Given the description of an element on the screen output the (x, y) to click on. 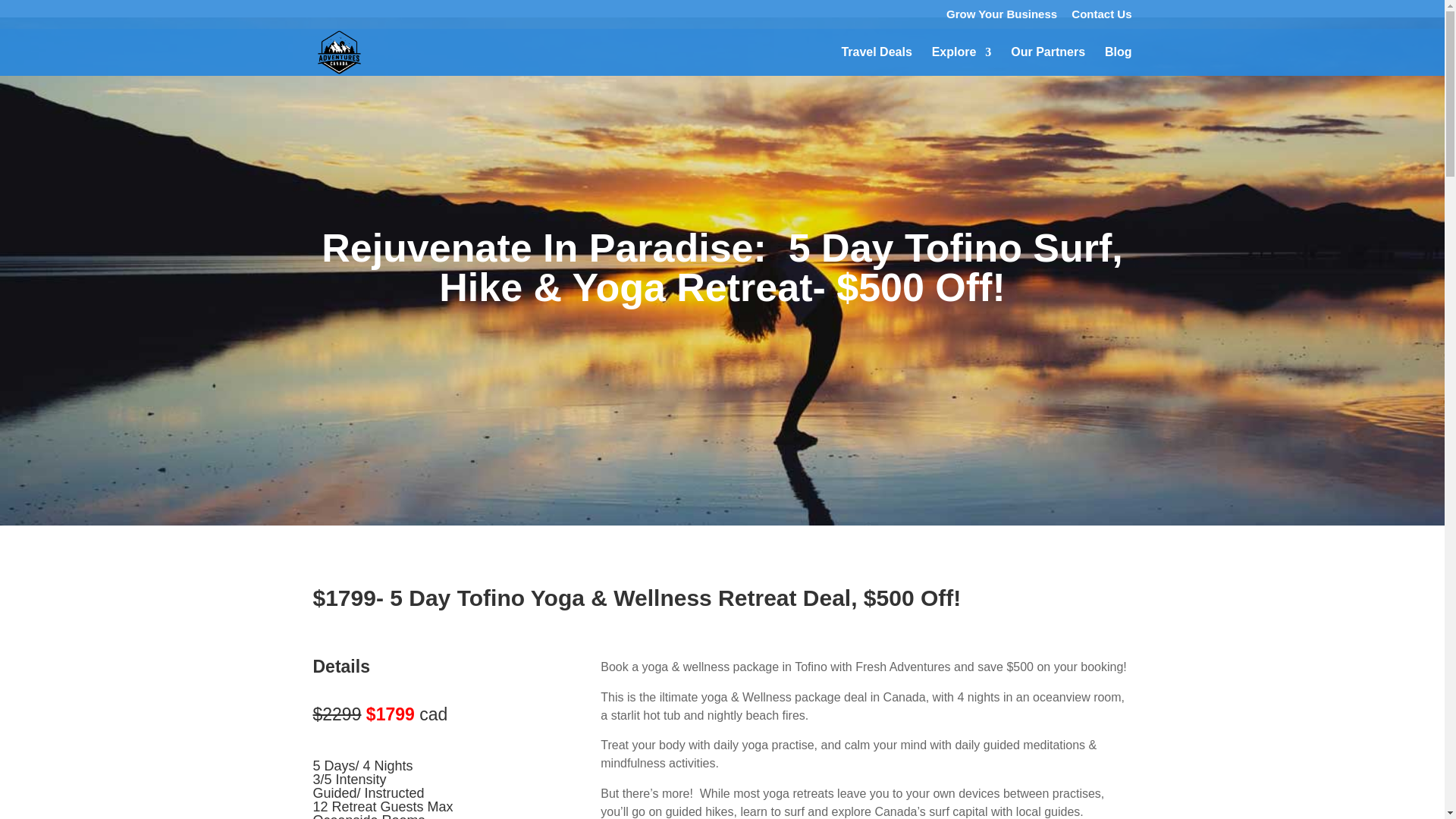
Blog (1118, 61)
Explore (961, 61)
Our Partners (1047, 61)
Contact Us (1101, 17)
Travel Deals (876, 61)
Grow Your Business (1001, 17)
